Given the description of an element on the screen output the (x, y) to click on. 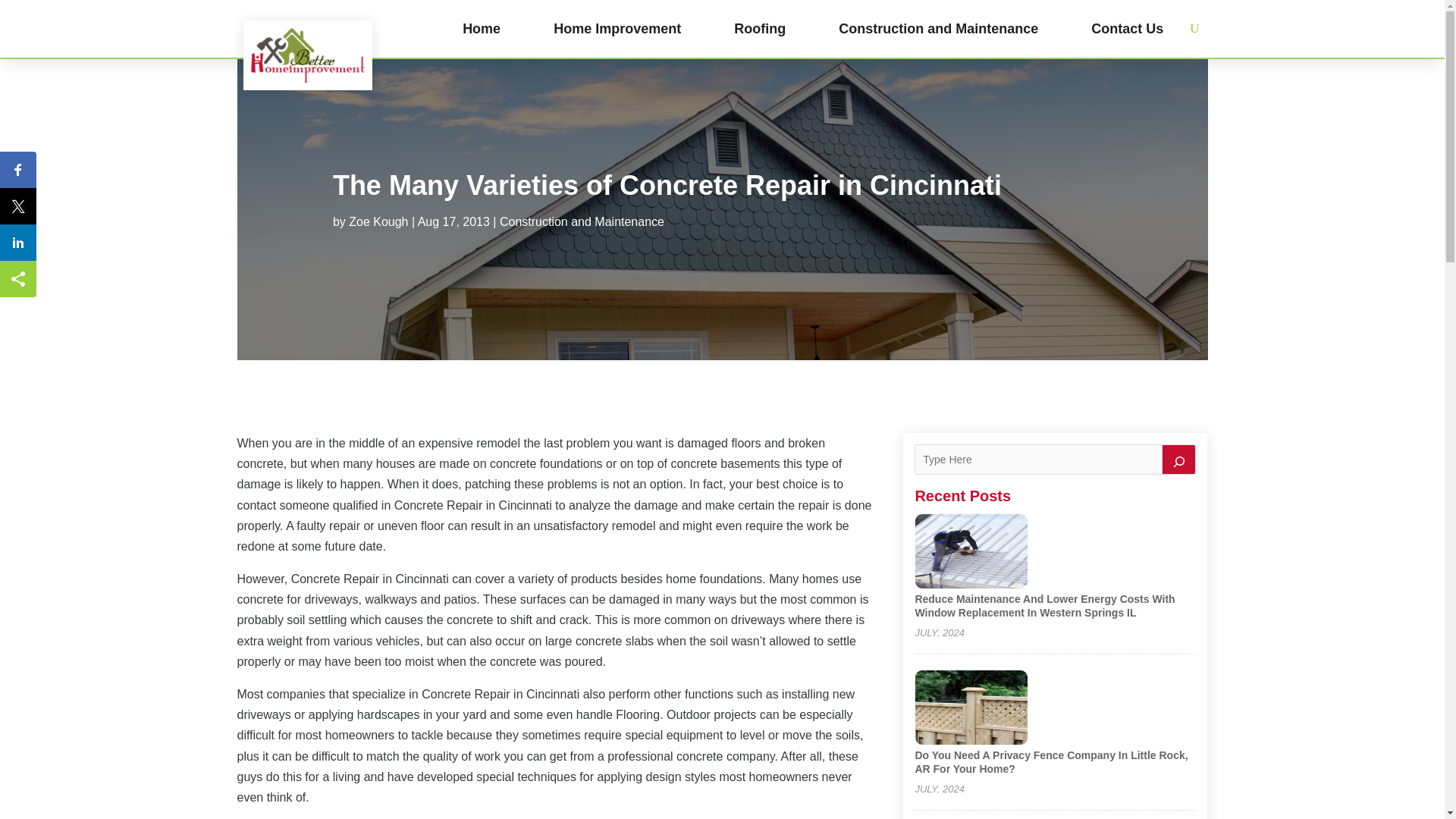
Home Improvement (617, 28)
Posts by Zoe Kough (378, 221)
Contact Us (1126, 28)
Construction and Maintenance (938, 28)
Construction and Maintenance (581, 221)
Zoe Kough (378, 221)
Roofing (759, 28)
